Given the description of an element on the screen output the (x, y) to click on. 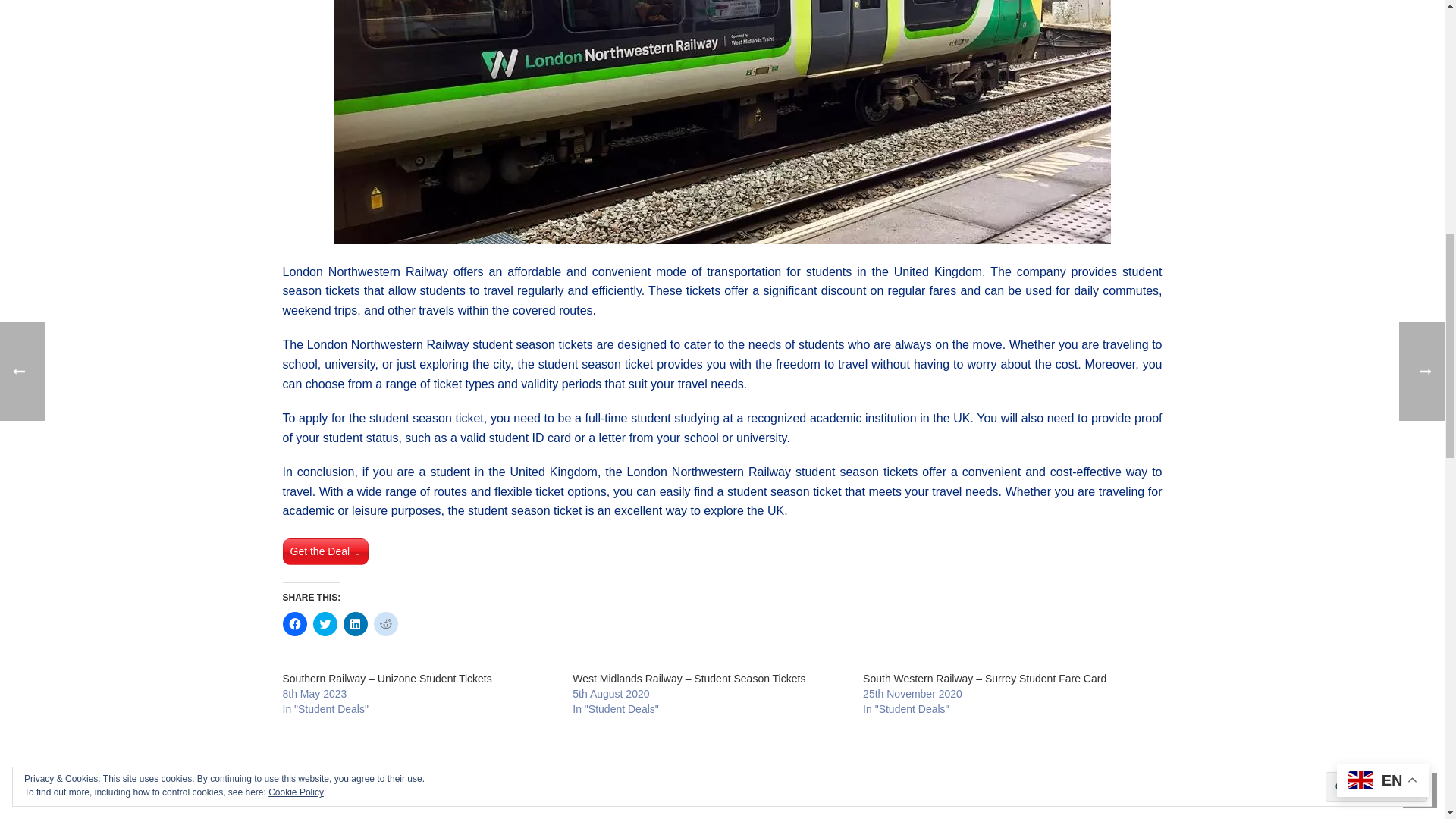
Click to share on Twitter (324, 623)
Click to share on Reddit (384, 623)
Click to share on LinkedIn (354, 623)
Click to share on Facebook (293, 623)
Get the Deal (325, 551)
